Given the description of an element on the screen output the (x, y) to click on. 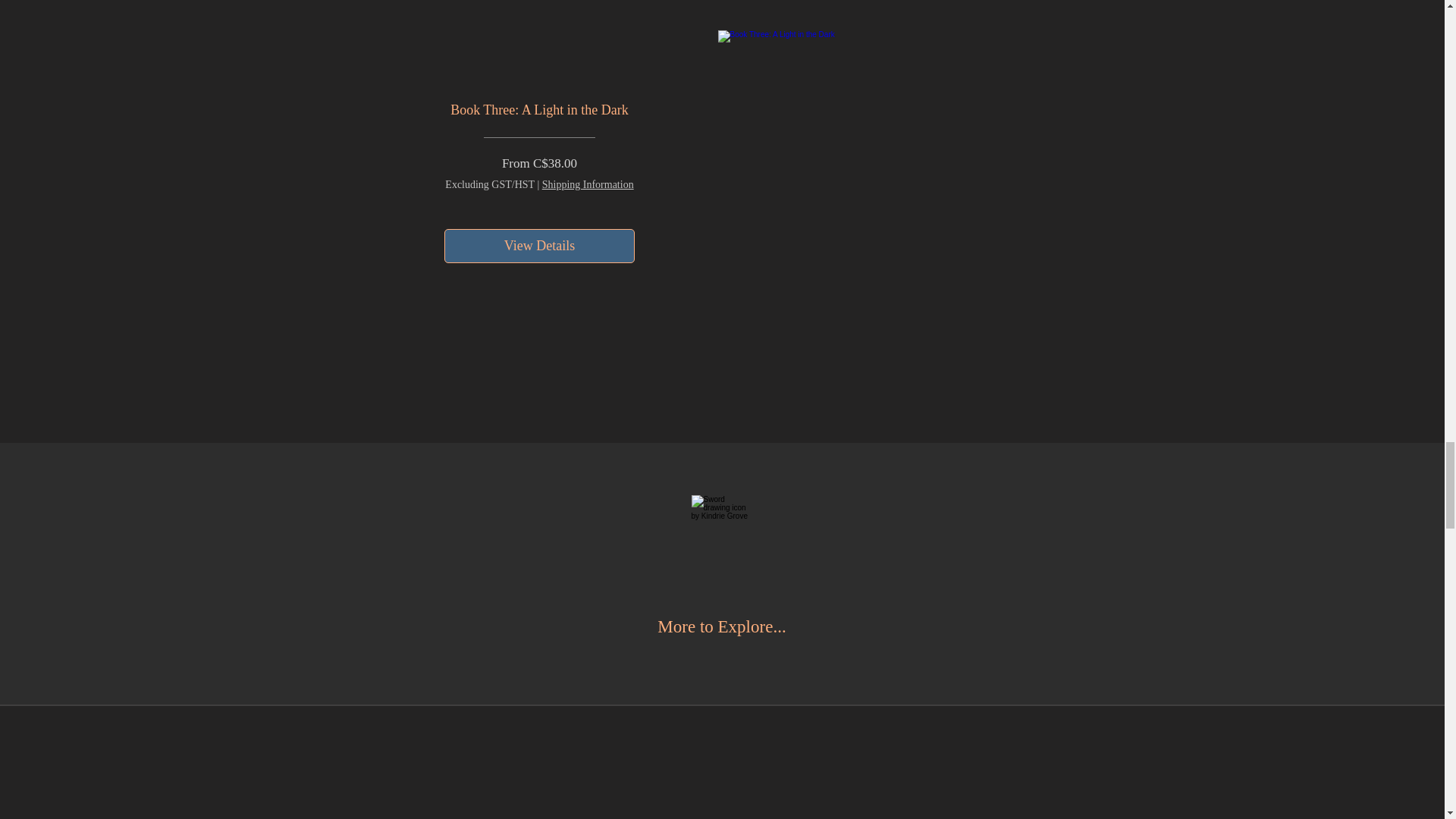
Shipping Information (587, 184)
View Details (538, 245)
